Given the description of an element on the screen output the (x, y) to click on. 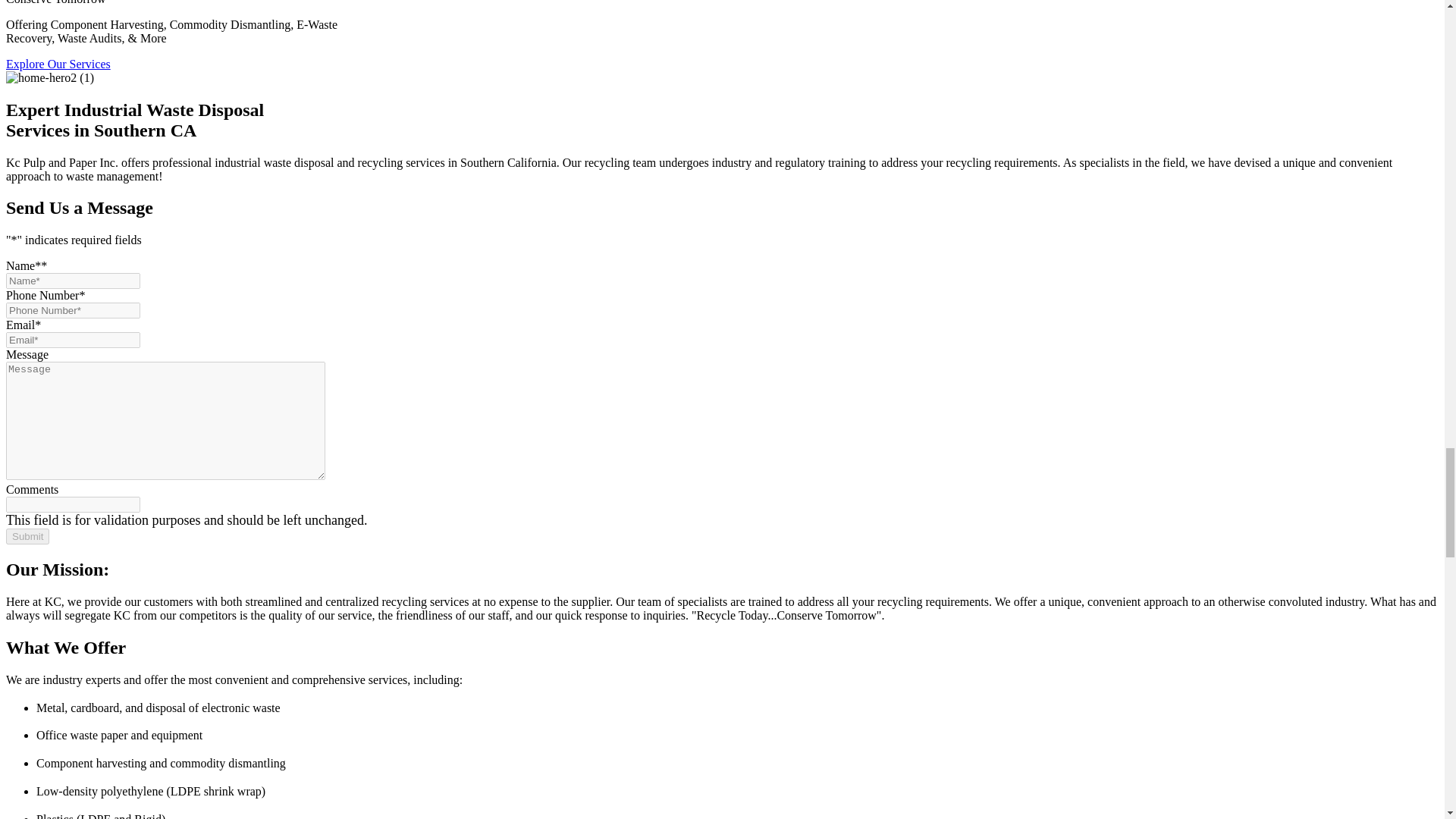
Submit (27, 536)
Submit (27, 536)
Explore Our Services (57, 63)
